Given the description of an element on the screen output the (x, y) to click on. 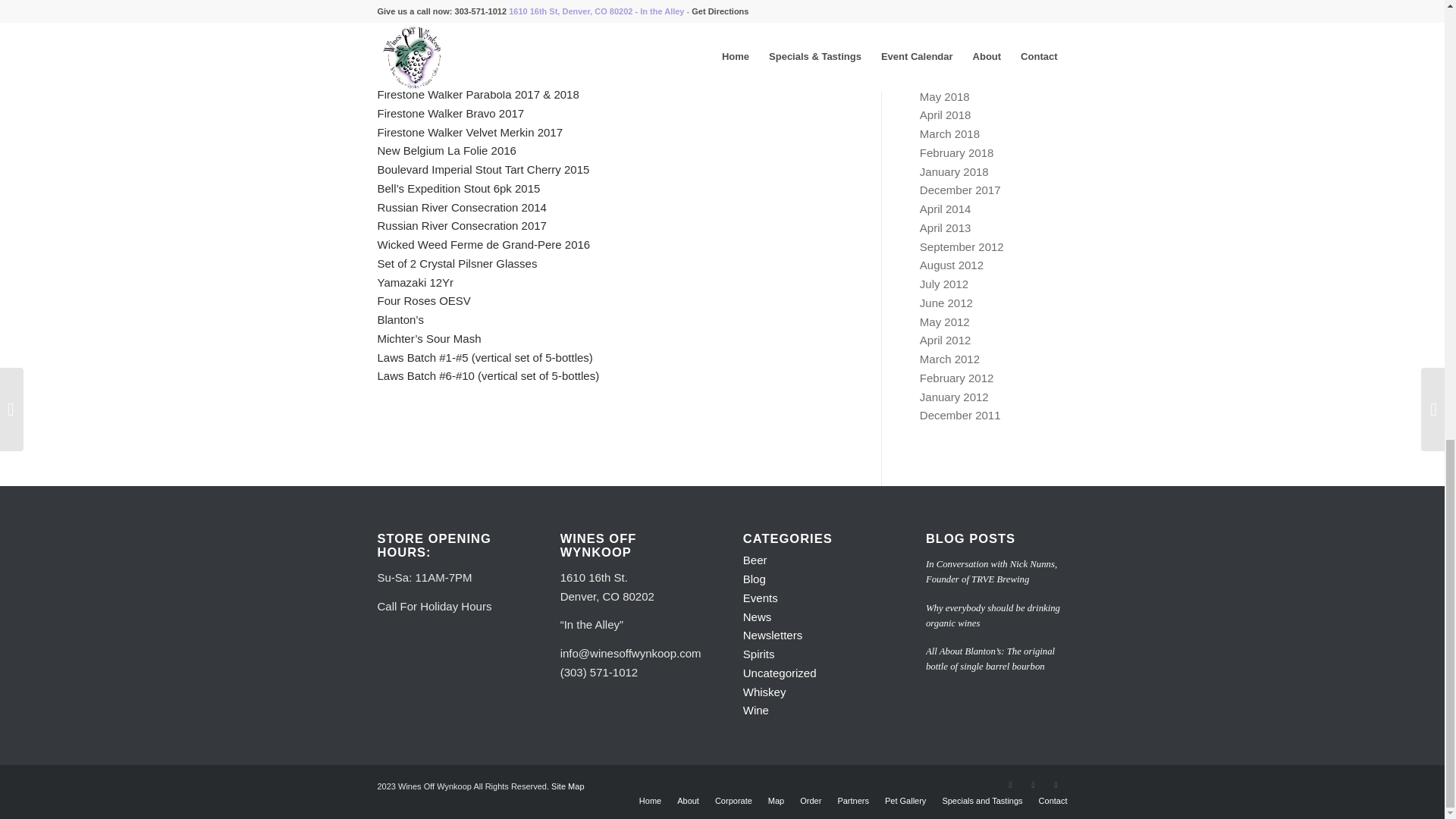
September 2018 (962, 21)
April 2018 (945, 114)
March 2018 (949, 133)
June 2018 (946, 77)
May 2018 (944, 96)
Twitter (1010, 784)
October 2018 (954, 4)
Instagram (1056, 784)
August 2018 (952, 39)
Facebook (1033, 784)
